Given the description of an element on the screen output the (x, y) to click on. 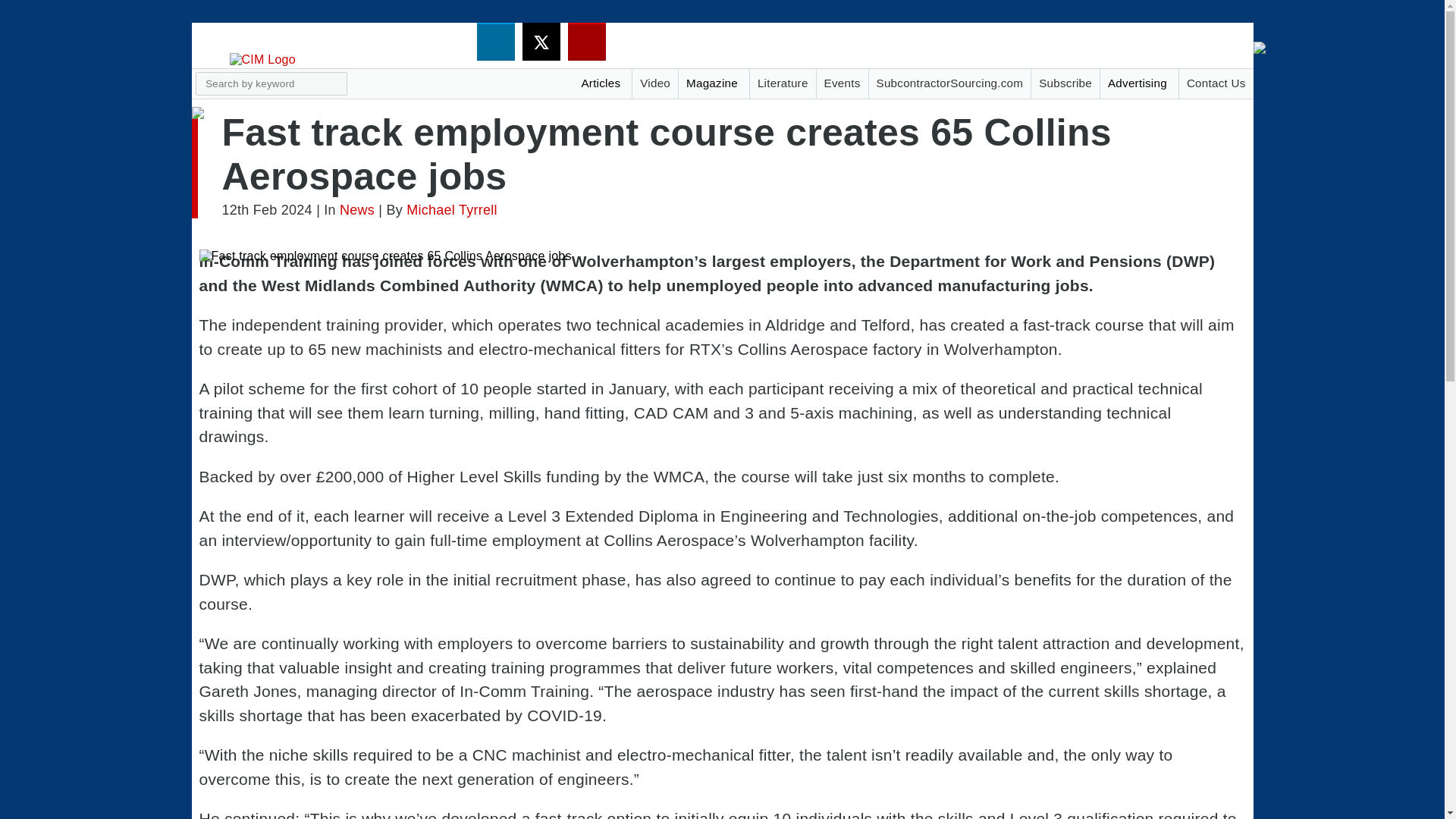
News (356, 209)
Contact Us (1216, 83)
Michael Tyrrell (451, 209)
Video (654, 82)
Events (842, 82)
Literature (782, 82)
Subscribe (1065, 82)
SubcontractorSourcing.com (949, 82)
